Given the description of an element on the screen output the (x, y) to click on. 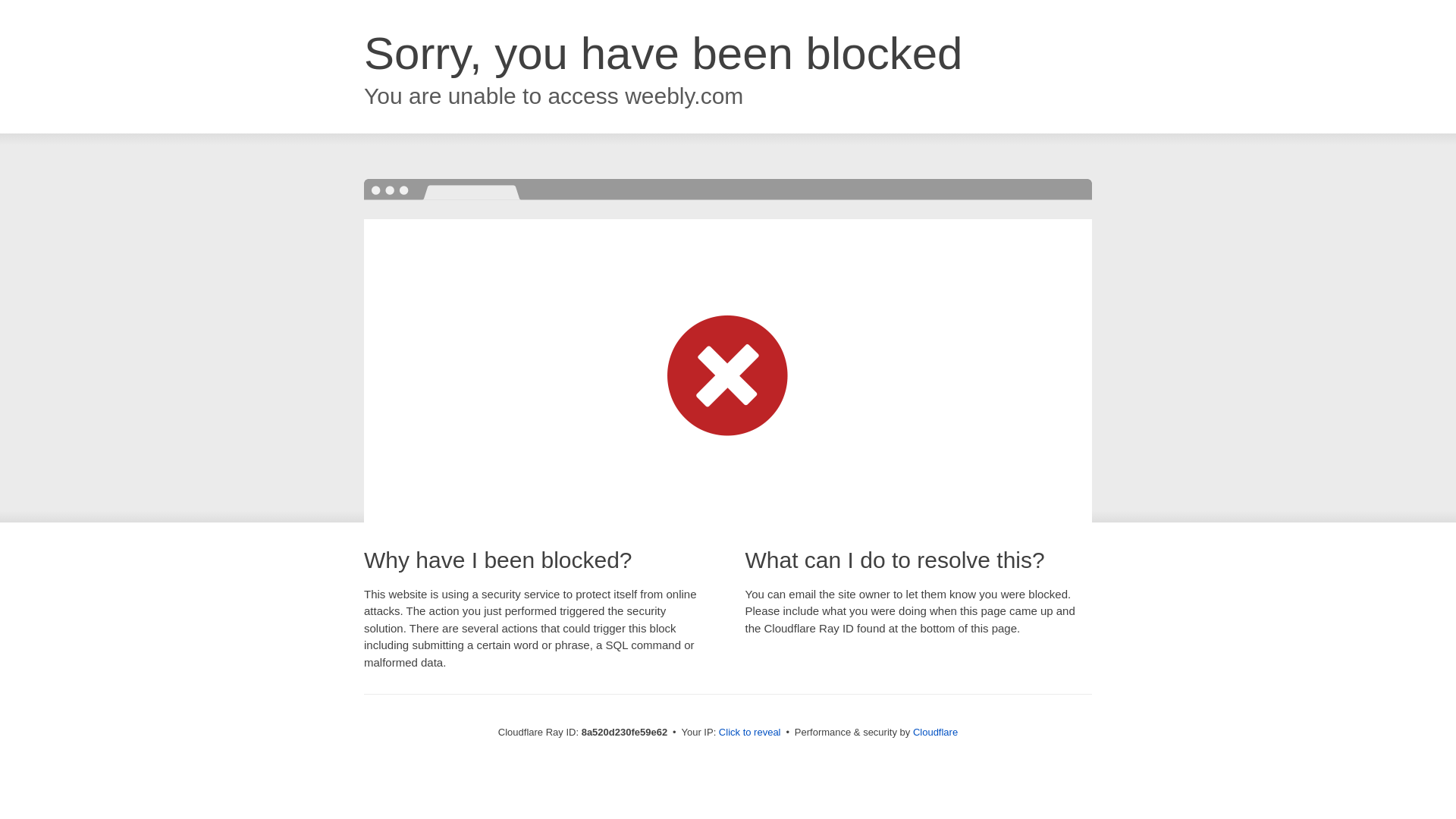
Cloudflare (935, 731)
Click to reveal (749, 732)
